Given the description of an element on the screen output the (x, y) to click on. 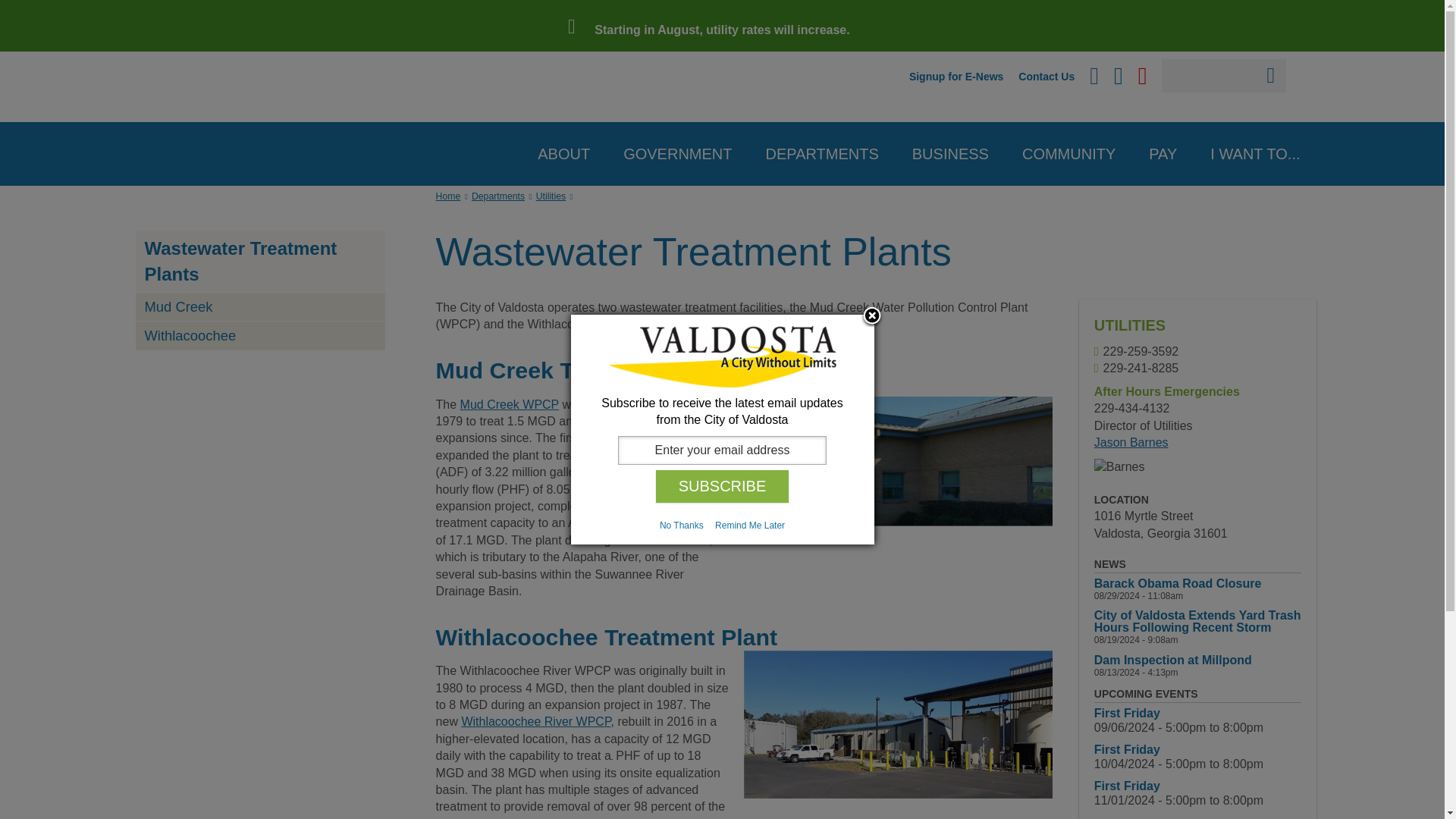
Subscribe (722, 486)
ABOUT (1331, 28)
GOVERNMENT (1331, 71)
